Given the description of an element on the screen output the (x, y) to click on. 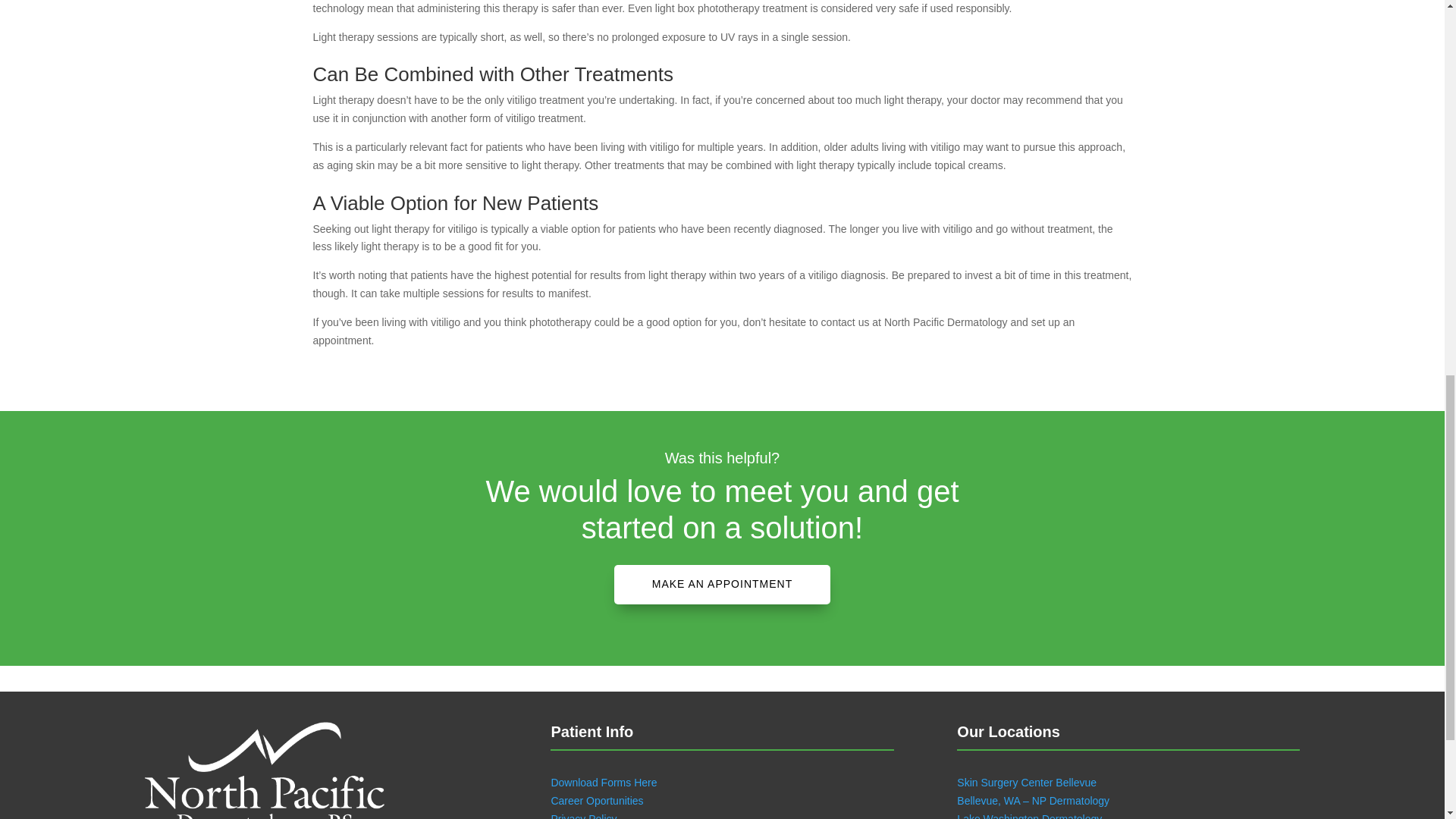
Download Forms Here (603, 782)
Privacy Policy (582, 816)
MAKE AN APPOINTMENT (721, 584)
Career Oportunities (596, 800)
NorthPacificDermatology-logo-w (264, 770)
Skin Surgery Center Bellevue (1026, 782)
